Given the description of an element on the screen output the (x, y) to click on. 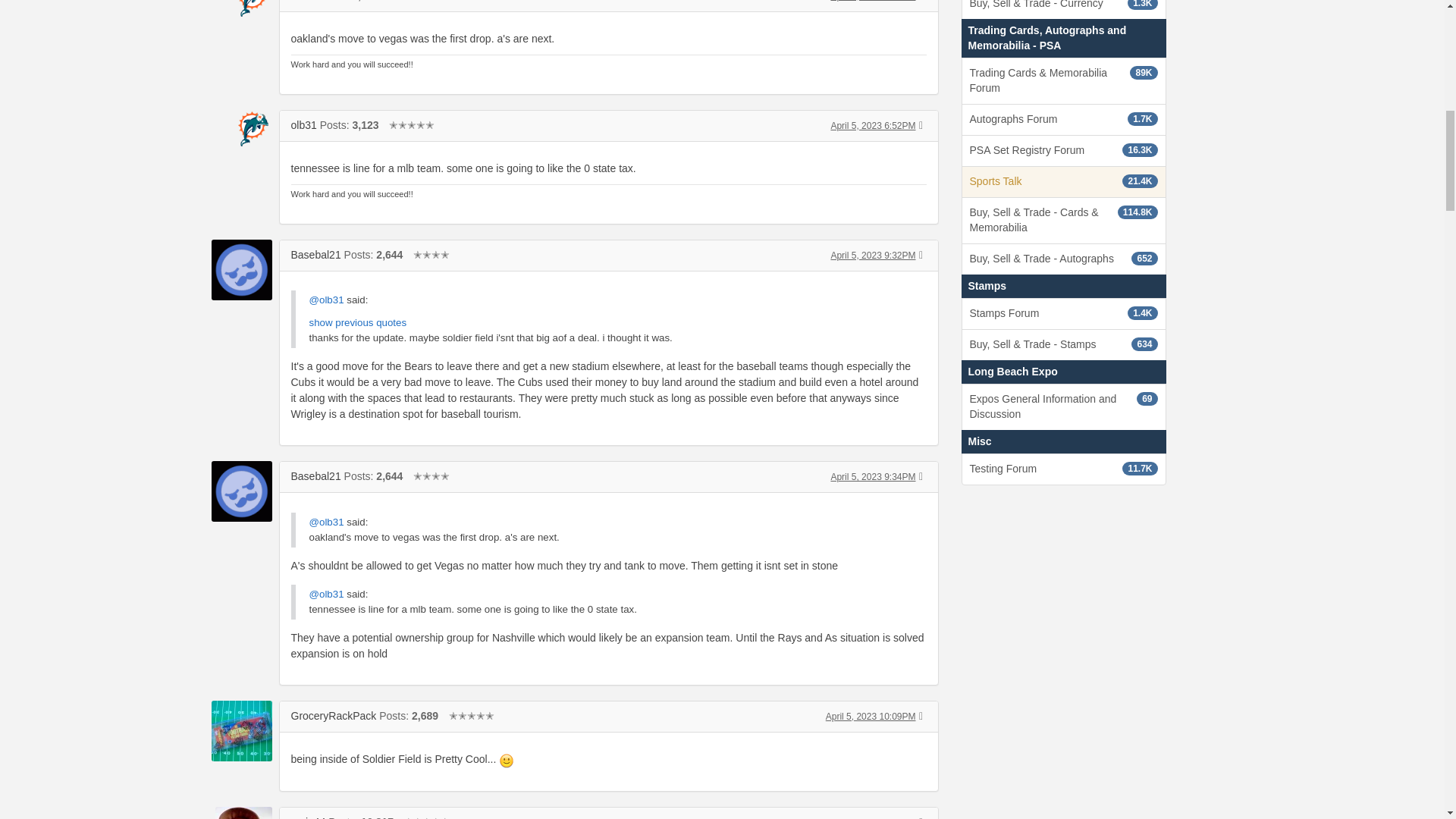
Basebal21 (315, 254)
olb31 (304, 124)
April 5, 2023 9:32PM (872, 255)
olb31 (304, 0)
April 5, 2023 6:52PM (872, 125)
April 5, 2023 6:51PM (872, 0)
